Given the description of an element on the screen output the (x, y) to click on. 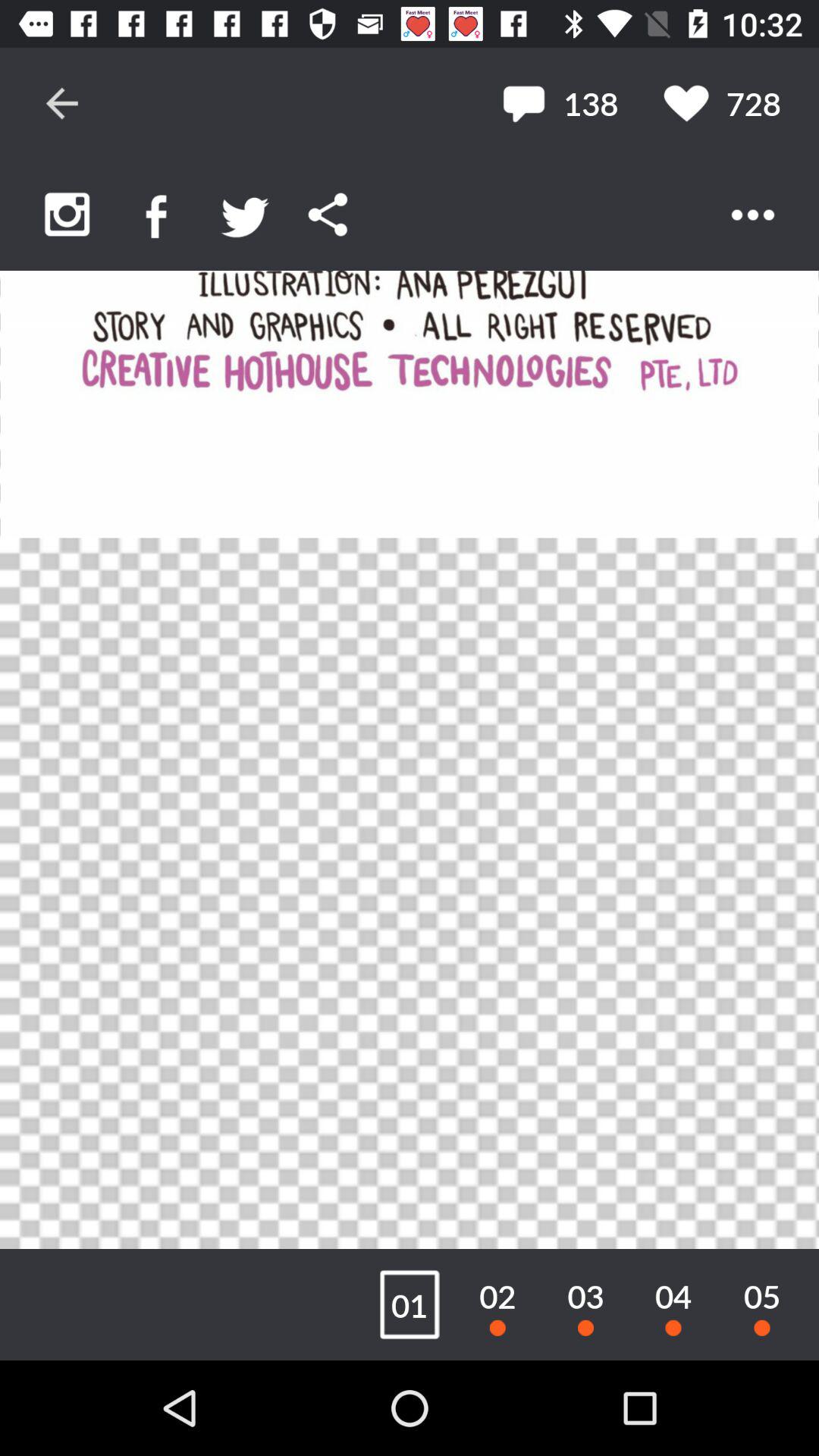
open menu options (752, 214)
